Given the description of an element on the screen output the (x, y) to click on. 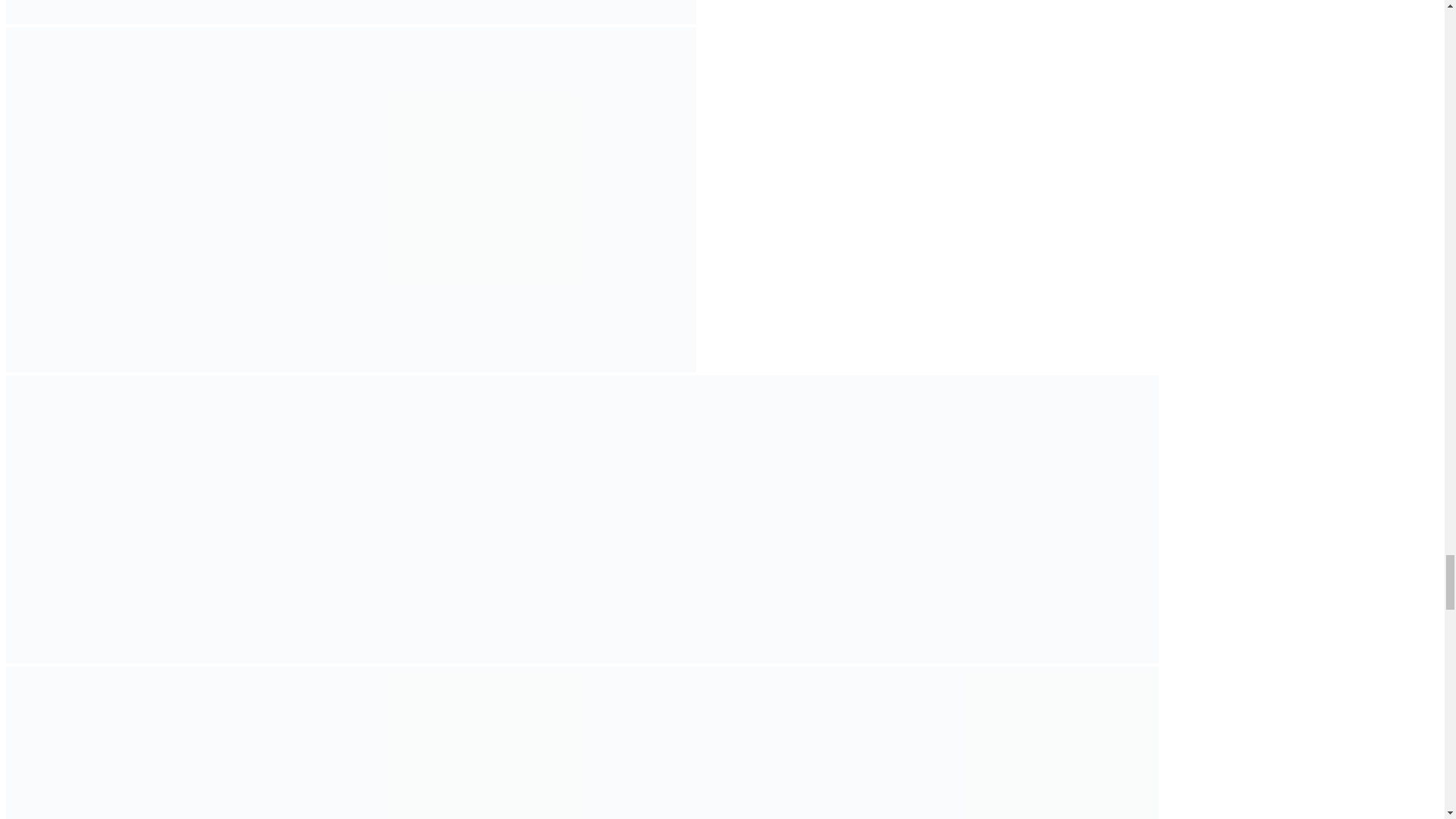
Online-Wine-Shop (438, 742)
Cartier-jewellery (149, 519)
Advertising (438, 519)
bespoke-Engagement-rigns (1014, 742)
Cartier (726, 742)
Wedding-Rings (149, 742)
web-design (1014, 519)
Natural-Wines (726, 519)
